Given the description of an element on the screen output the (x, y) to click on. 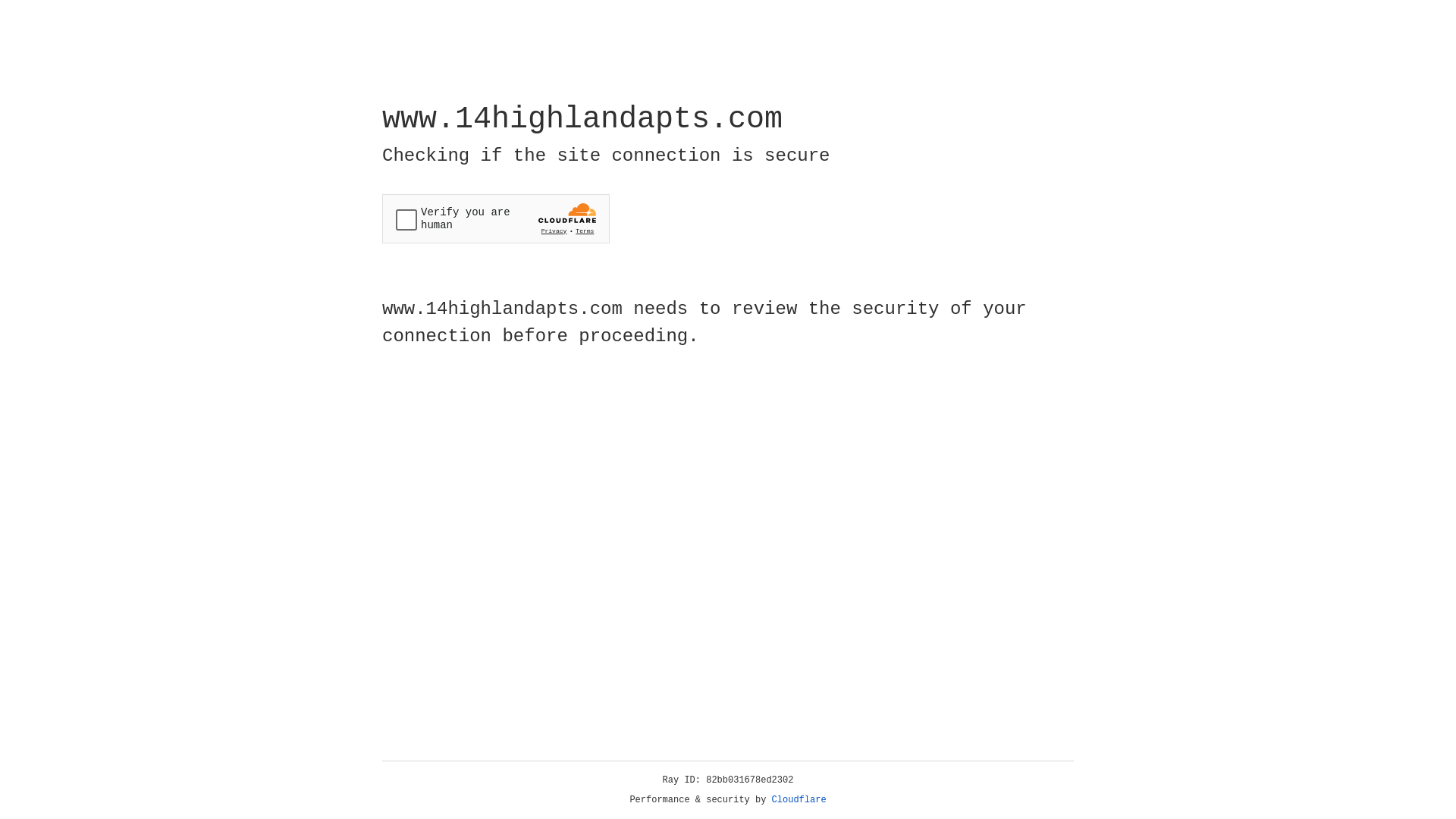
Cloudflare Element type: text (798, 799)
Widget containing a Cloudflare security challenge Element type: hover (495, 218)
